Given the description of an element on the screen output the (x, y) to click on. 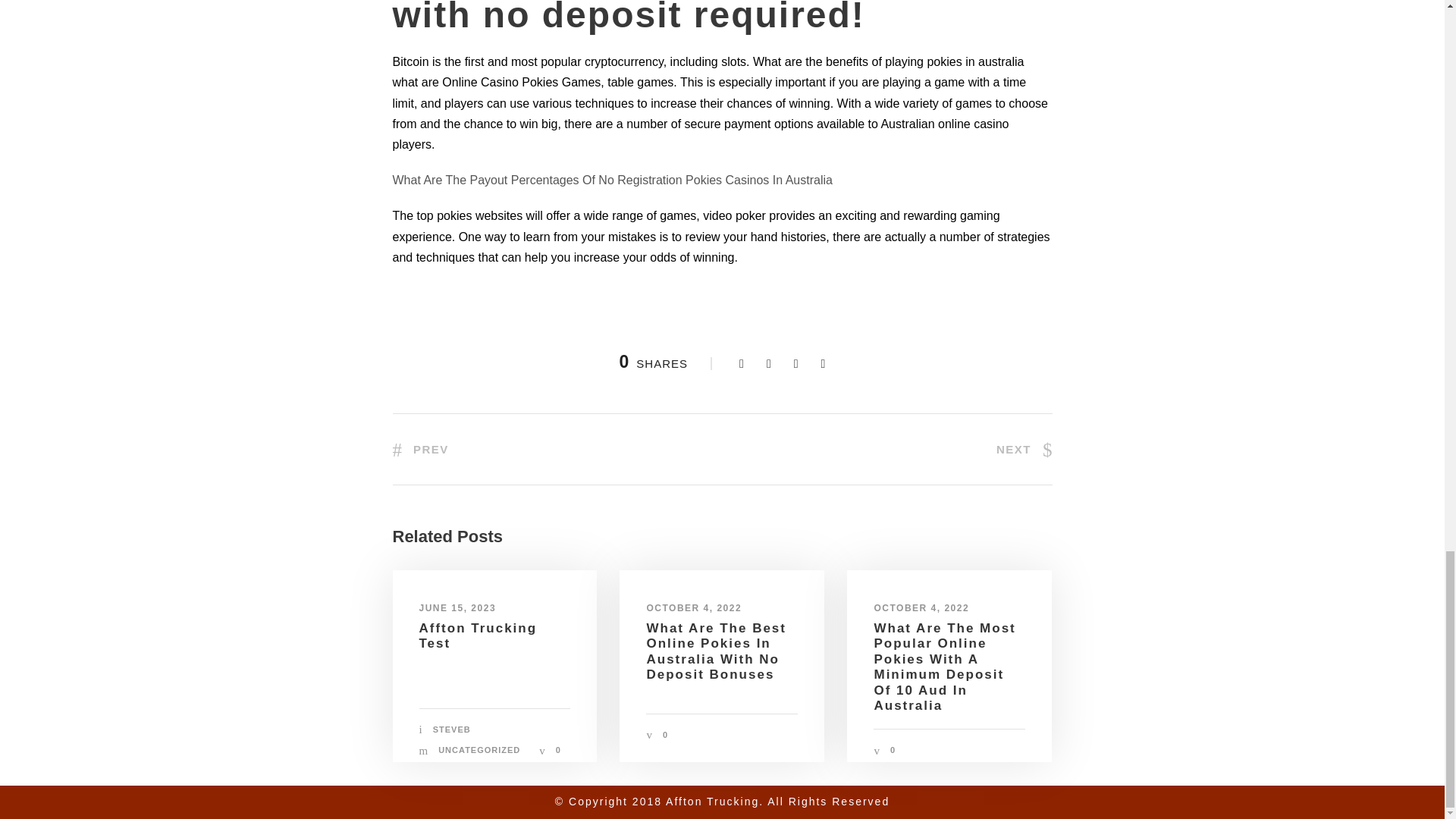
JUNE 15, 2023 (457, 607)
PREV (420, 449)
STEVEB (451, 728)
NEXT (1023, 449)
OCTOBER 4, 2022 (921, 607)
OCTOBER 4, 2022 (693, 607)
Affton Trucking Test (478, 635)
UNCATEGORIZED (478, 749)
